Given the description of an element on the screen output the (x, y) to click on. 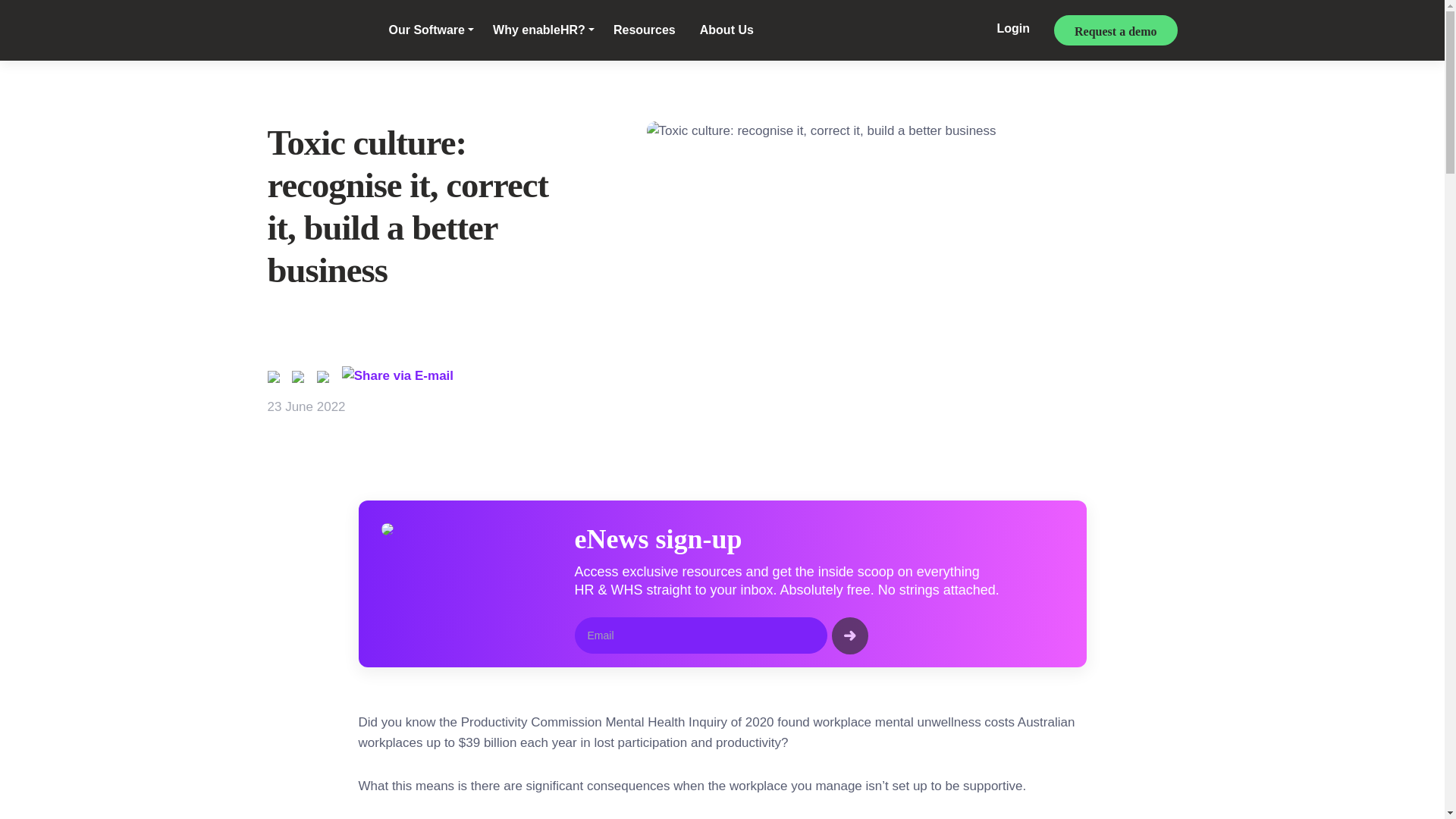
Share by Email (402, 375)
About Us (727, 29)
Resources (643, 29)
Why enableHR? (543, 29)
Our Software (431, 29)
Request a demo (1115, 30)
Login (1012, 30)
